Given the description of an element on the screen output the (x, y) to click on. 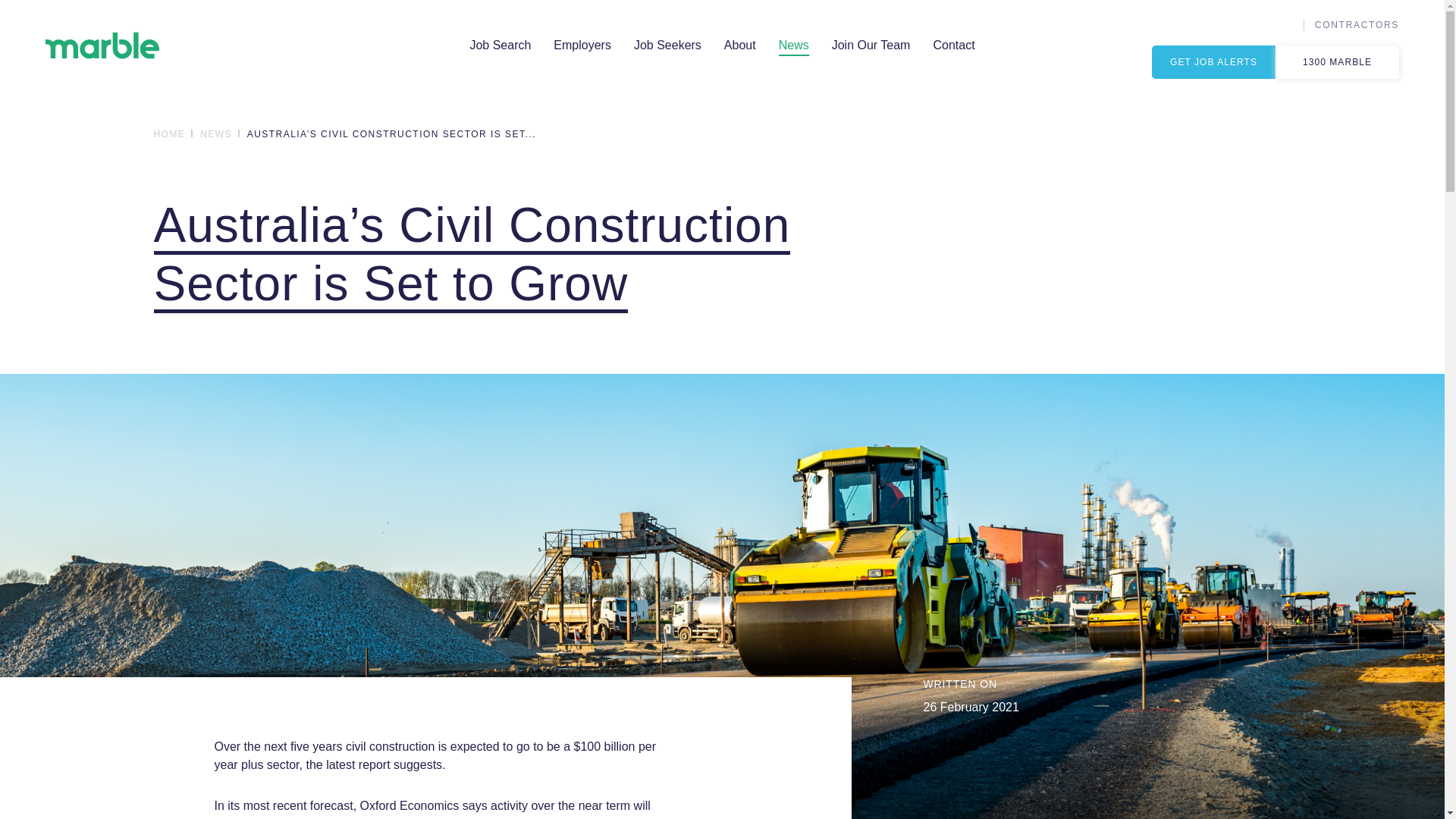
Job Search (499, 45)
NEWS (218, 134)
1300 MARBLE (1337, 61)
Join Our Team (871, 45)
Contact (953, 45)
Employers (582, 45)
HOME (171, 134)
CONTRACTORS (1357, 24)
GET JOB ALERTS (1213, 61)
Job Seekers (668, 45)
News (794, 45)
About (740, 45)
